Given the description of an element on the screen output the (x, y) to click on. 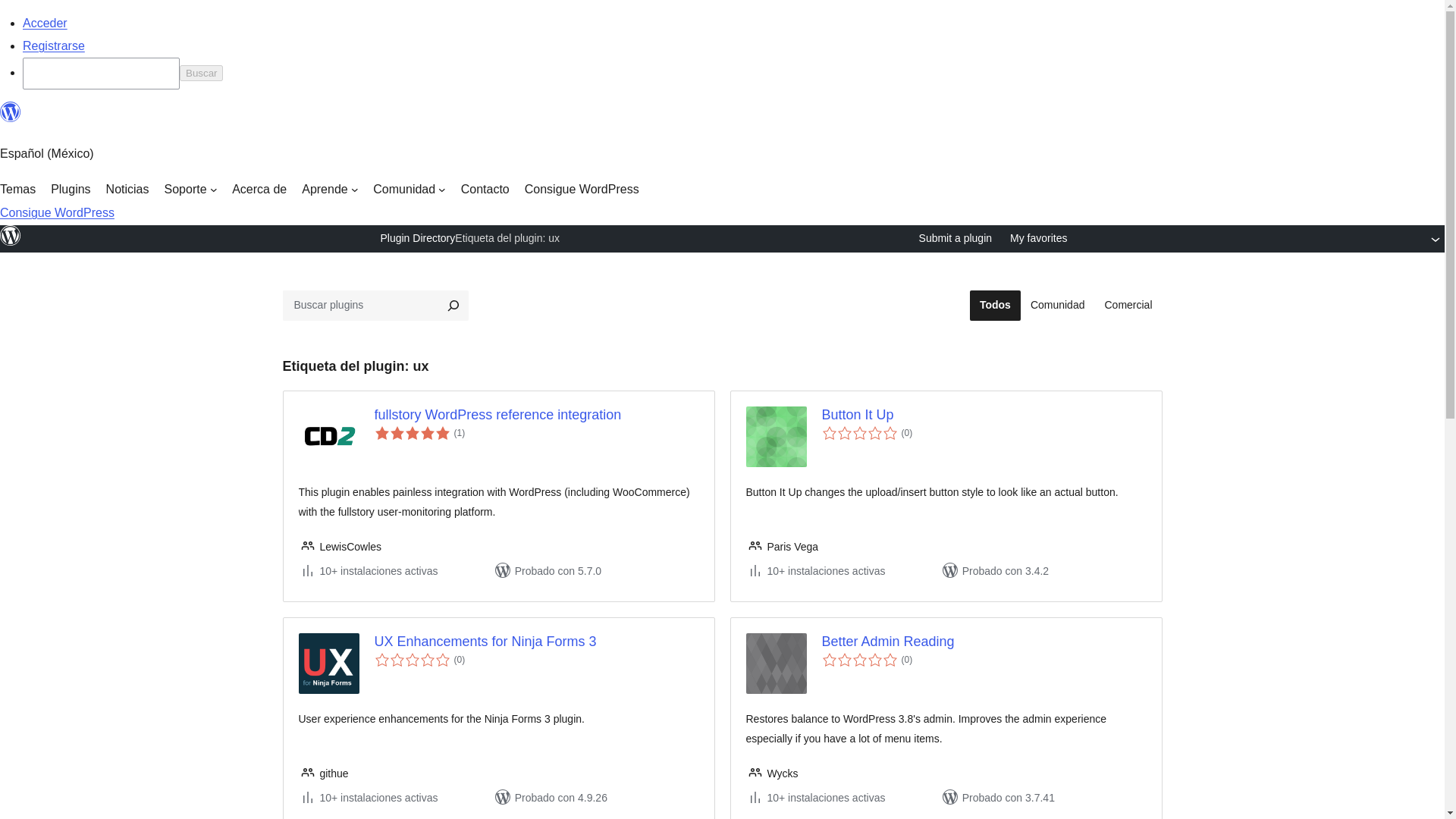
Acerca de (258, 189)
Comercial (1127, 305)
Aprende (329, 189)
Comunidad (1057, 305)
Submit a plugin (955, 239)
Buscar (200, 73)
Todos (994, 305)
Contacto (485, 189)
Acceder (44, 22)
WordPress.org (10, 111)
Consigue WordPress (581, 189)
My favorites (1038, 239)
Registrarse (53, 45)
Comunidad (408, 189)
